Given the description of an element on the screen output the (x, y) to click on. 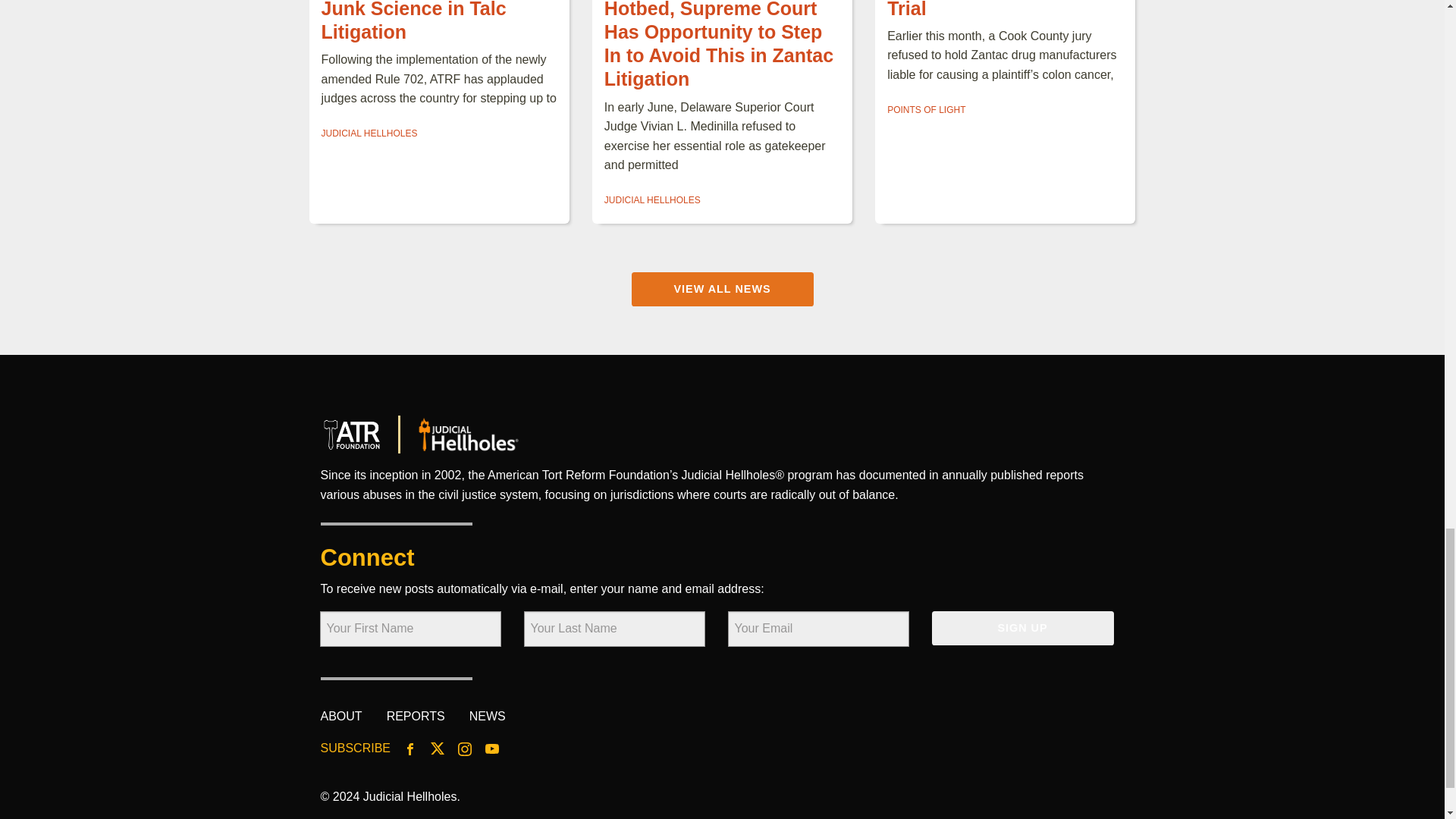
Chicago Jury Rejects Junk Science in Zantac Trial (991, 9)
Sign Up (1022, 627)
